Given the description of an element on the screen output the (x, y) to click on. 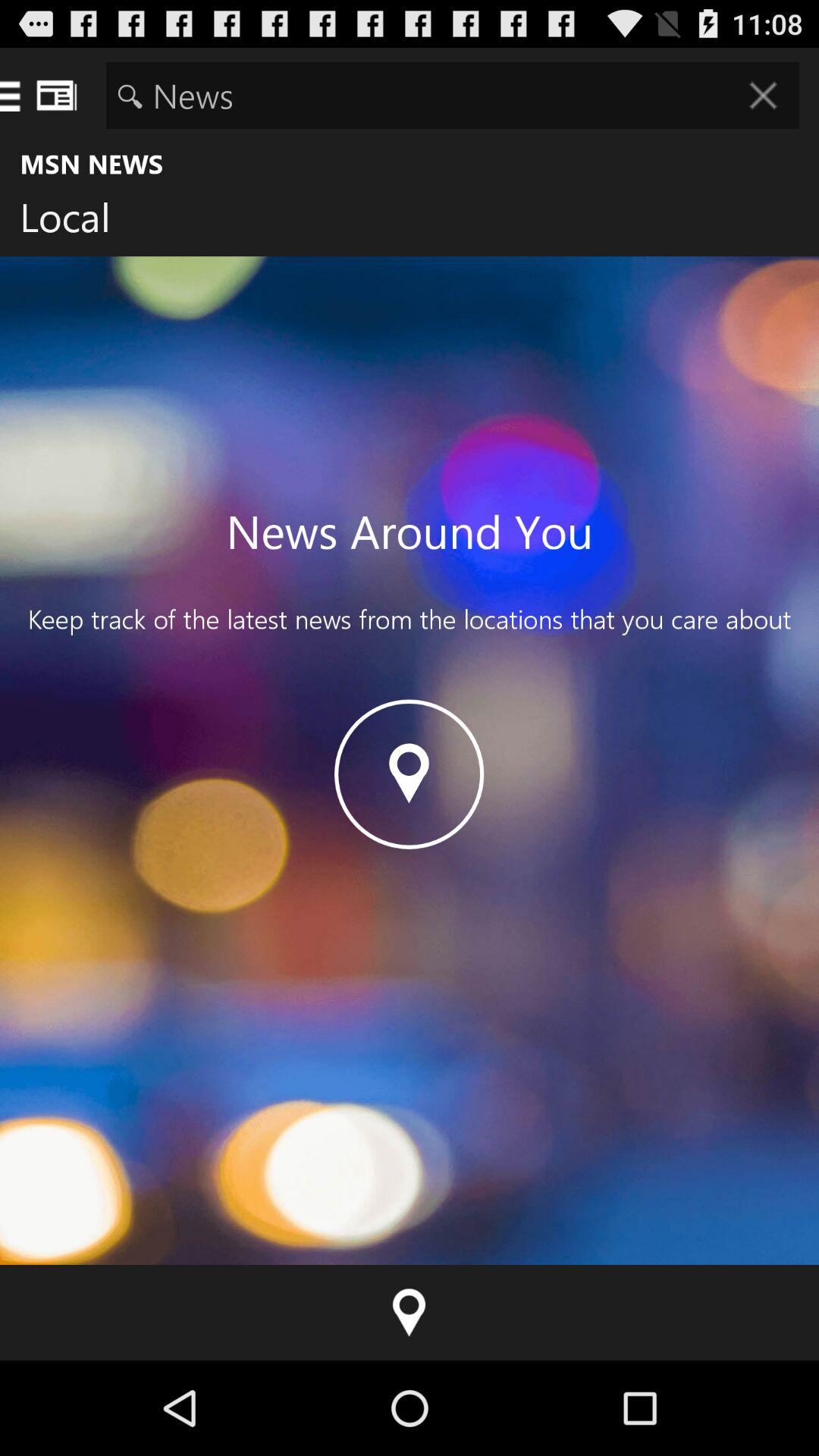
swipe until the local icon (77, 220)
